Given the description of an element on the screen output the (x, y) to click on. 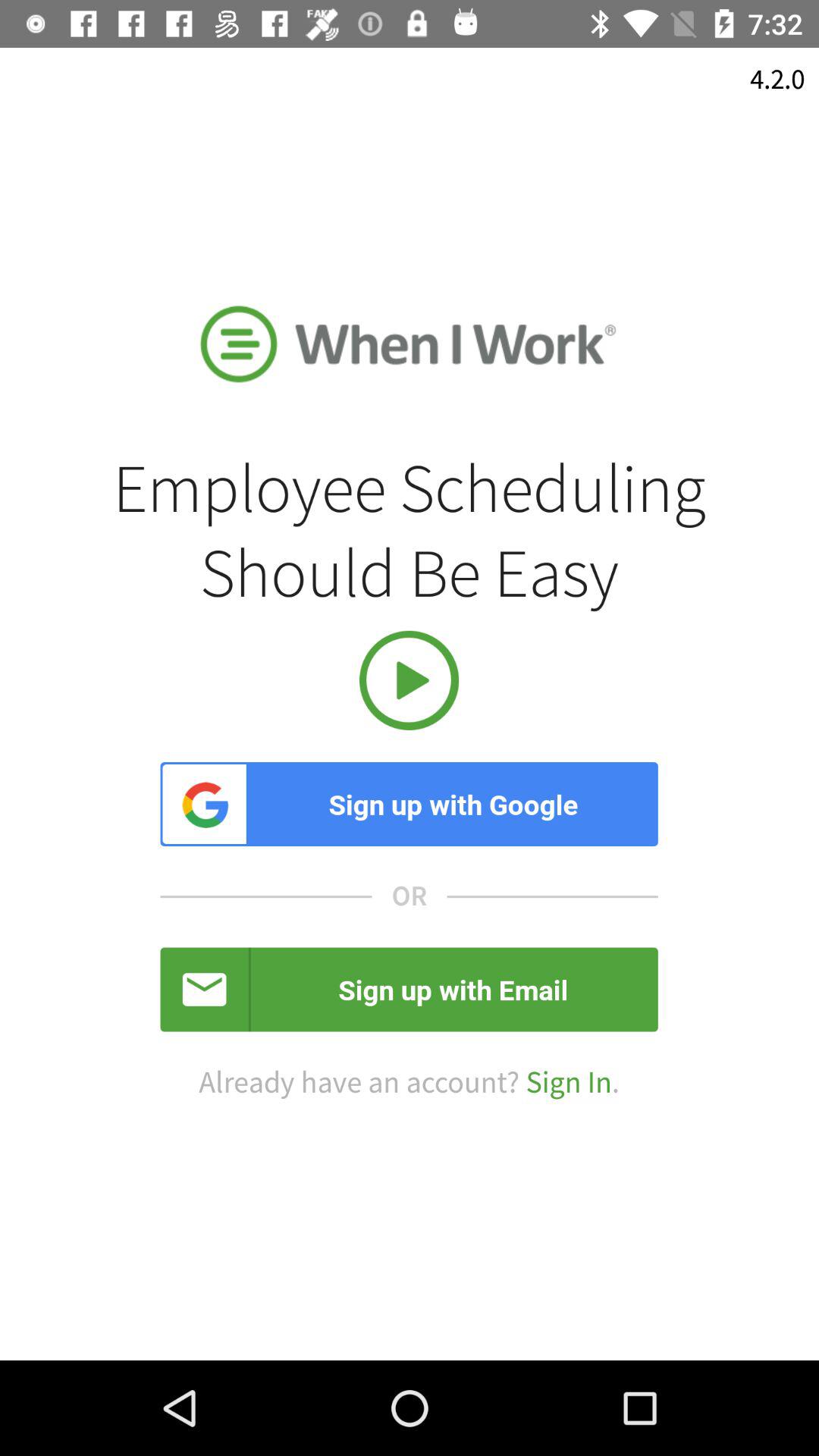
turn off the icon above employee scheduling should (777, 79)
